Given the description of an element on the screen output the (x, y) to click on. 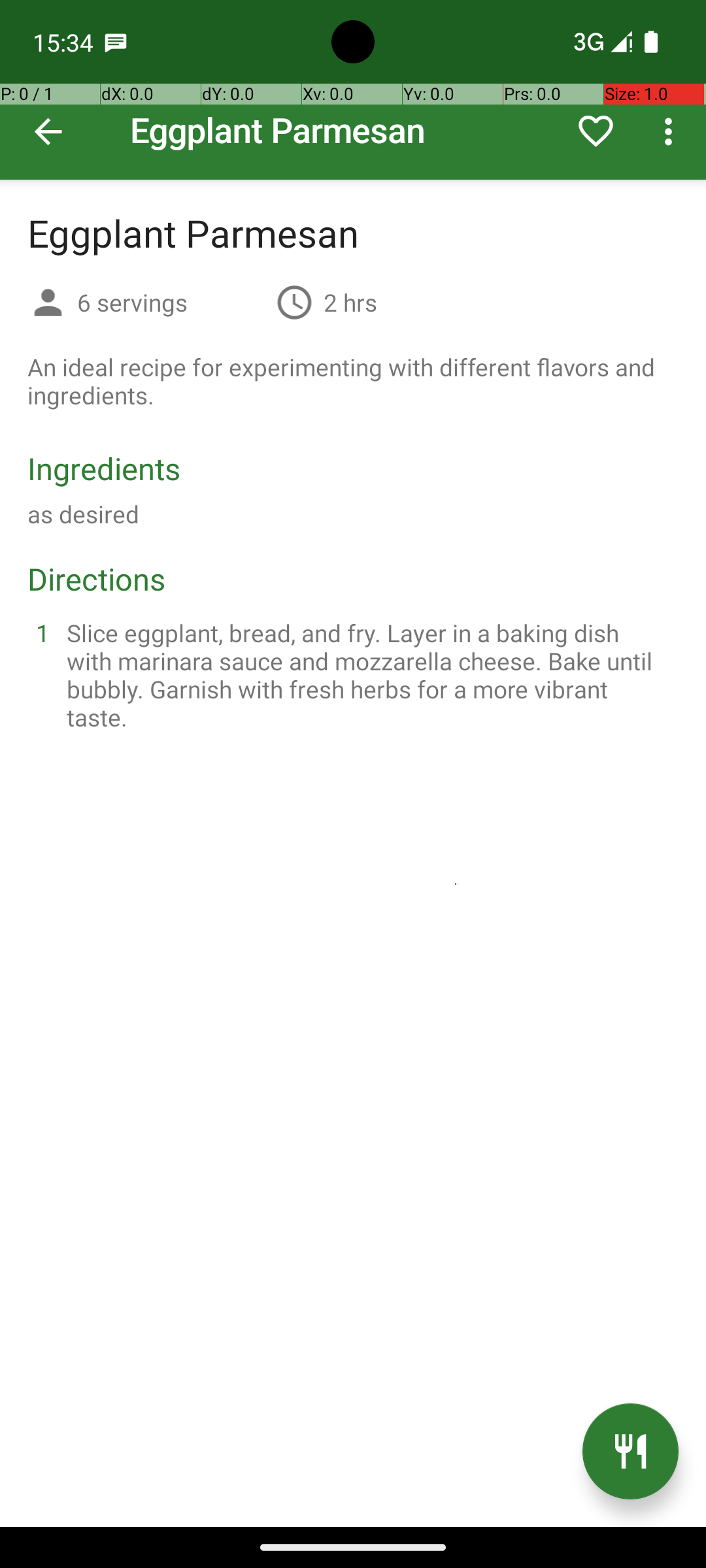
2 hrs Element type: android.widget.TextView (350, 301)
as desired Element type: android.widget.TextView (83, 513)
Slice eggplant, bread, and fry. Layer in a baking dish with marinara sauce and mozzarella cheese. Bake until bubbly. Garnish with fresh herbs for a more vibrant taste. Element type: android.widget.TextView (368, 674)
